Given the description of an element on the screen output the (x, y) to click on. 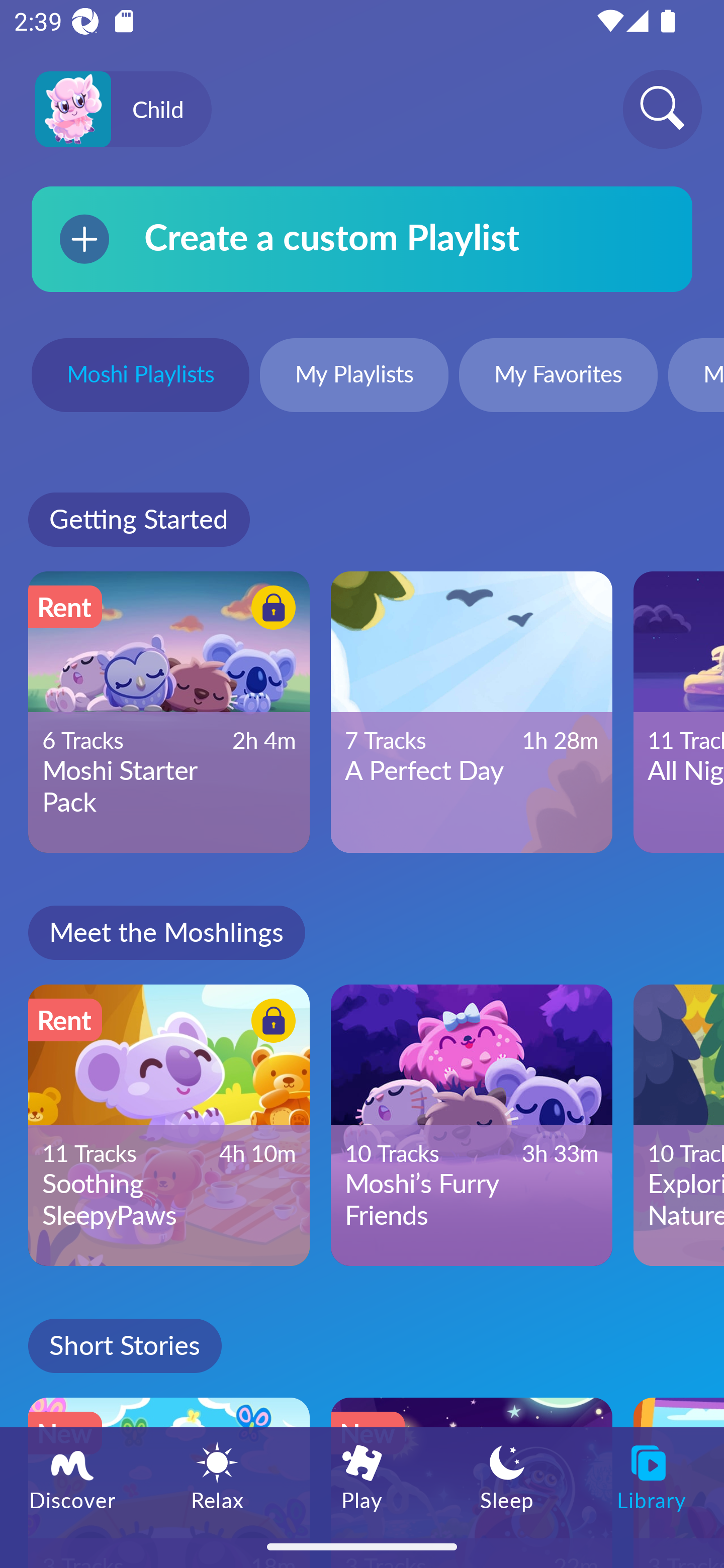
Profile icon Child (123, 109)
Create a custom Playlist (361, 238)
Moshi Playlists (140, 377)
My Playlists (353, 377)
My Favorites (558, 377)
Button (269, 609)
Featured Content 7 Tracks A Perfect Day 1h 28m (471, 711)
Button (269, 1023)
Discover (72, 1475)
Relax (216, 1475)
Play (361, 1475)
Sleep (506, 1475)
